Given the description of an element on the screen output the (x, y) to click on. 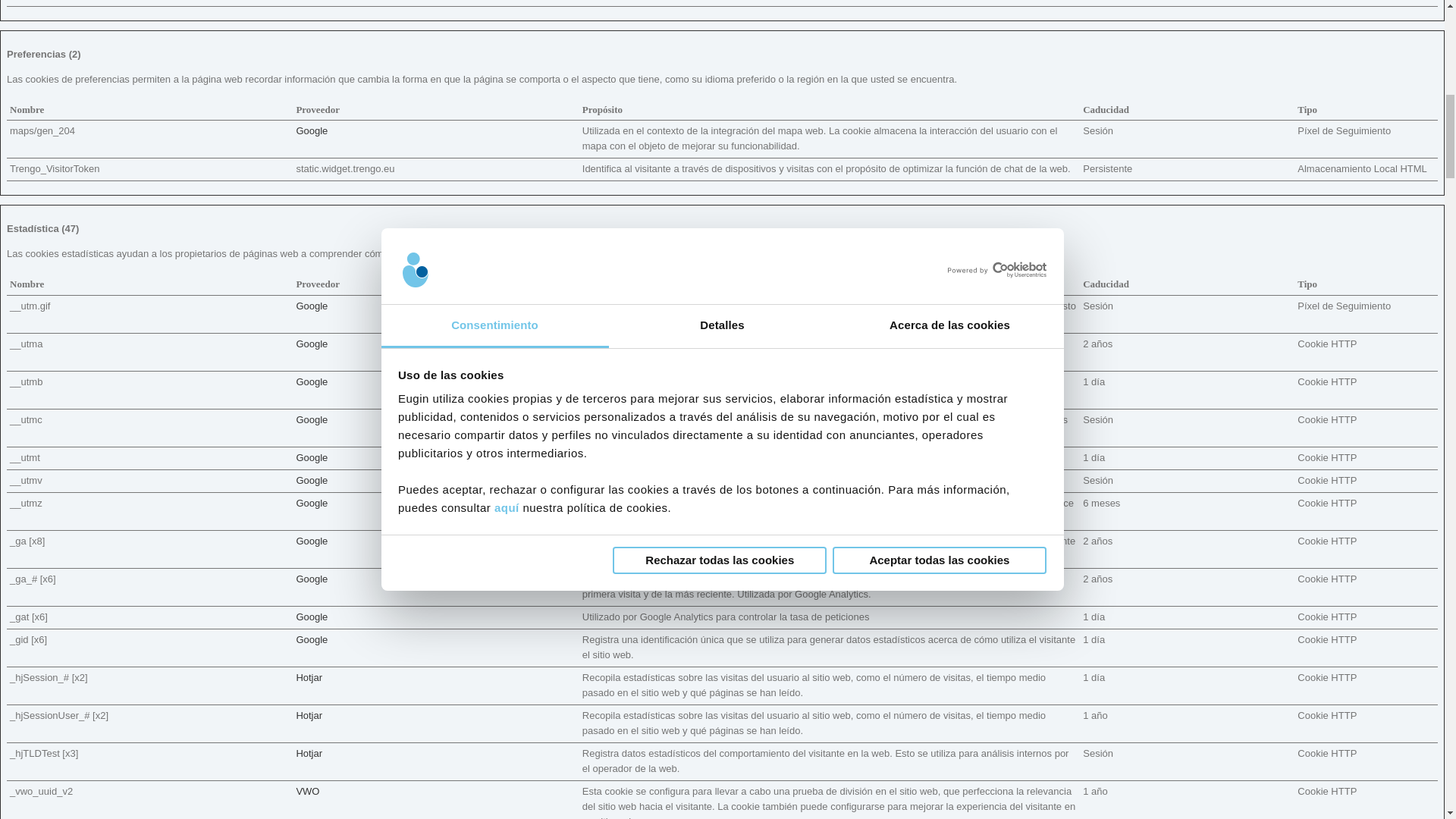
Google (311, 306)
Google (311, 639)
Google (311, 541)
Google (311, 419)
Google (311, 381)
Google (311, 502)
Hotjar (308, 715)
Google (311, 616)
Hotjar (308, 677)
Google (311, 343)
Google (311, 457)
Google (311, 578)
Google (311, 130)
VWO (306, 790)
Hotjar (308, 753)
